Given the description of an element on the screen output the (x, y) to click on. 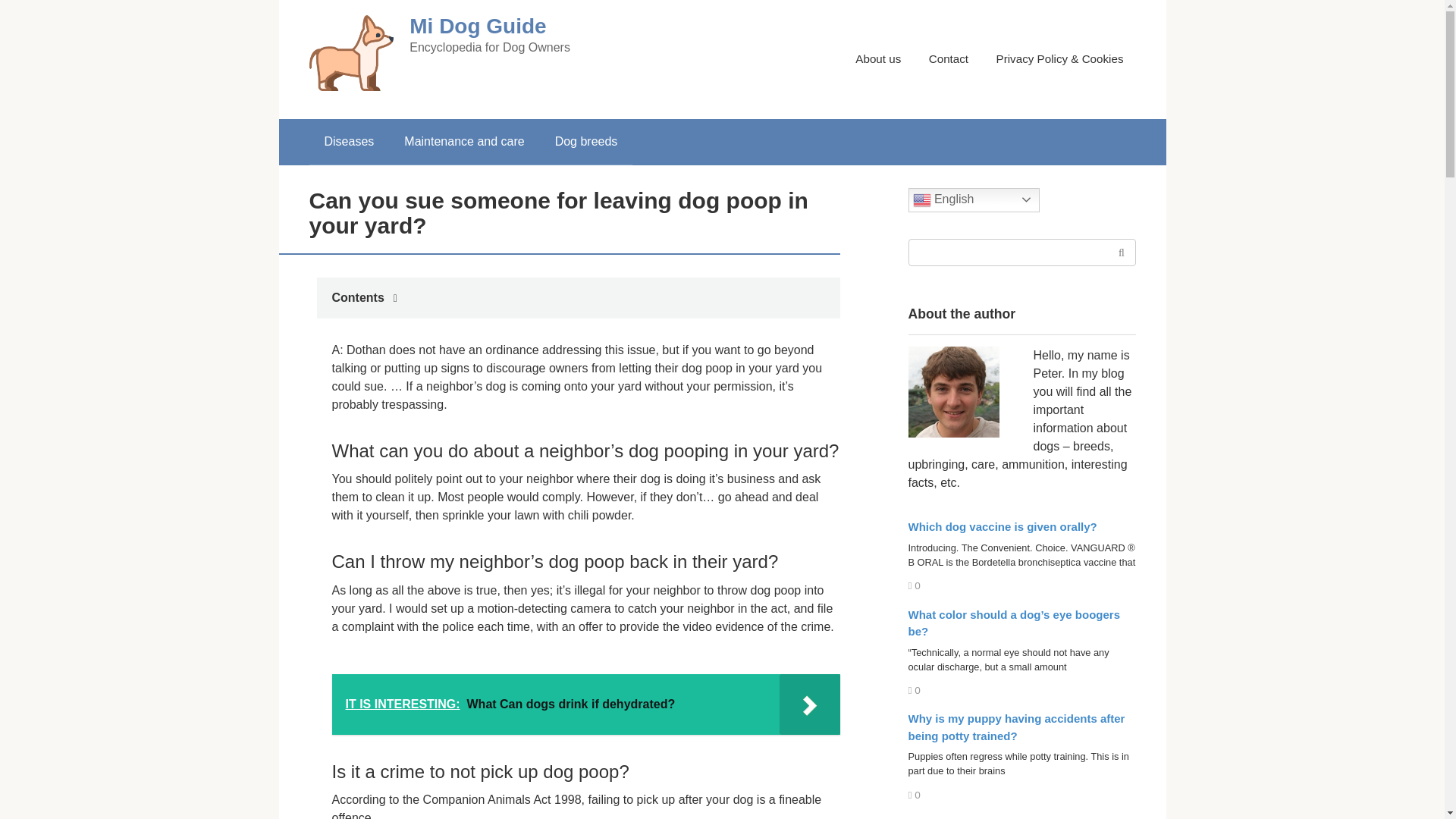
Mi Dog Guide (477, 25)
Diseases (349, 141)
About us (878, 59)
IT IS INTERESTING:  What Can dogs drink if dehydrated? (585, 704)
Dog breeds (586, 141)
Contact (948, 59)
English (973, 200)
Maintenance and care (463, 141)
